Given the description of an element on the screen output the (x, y) to click on. 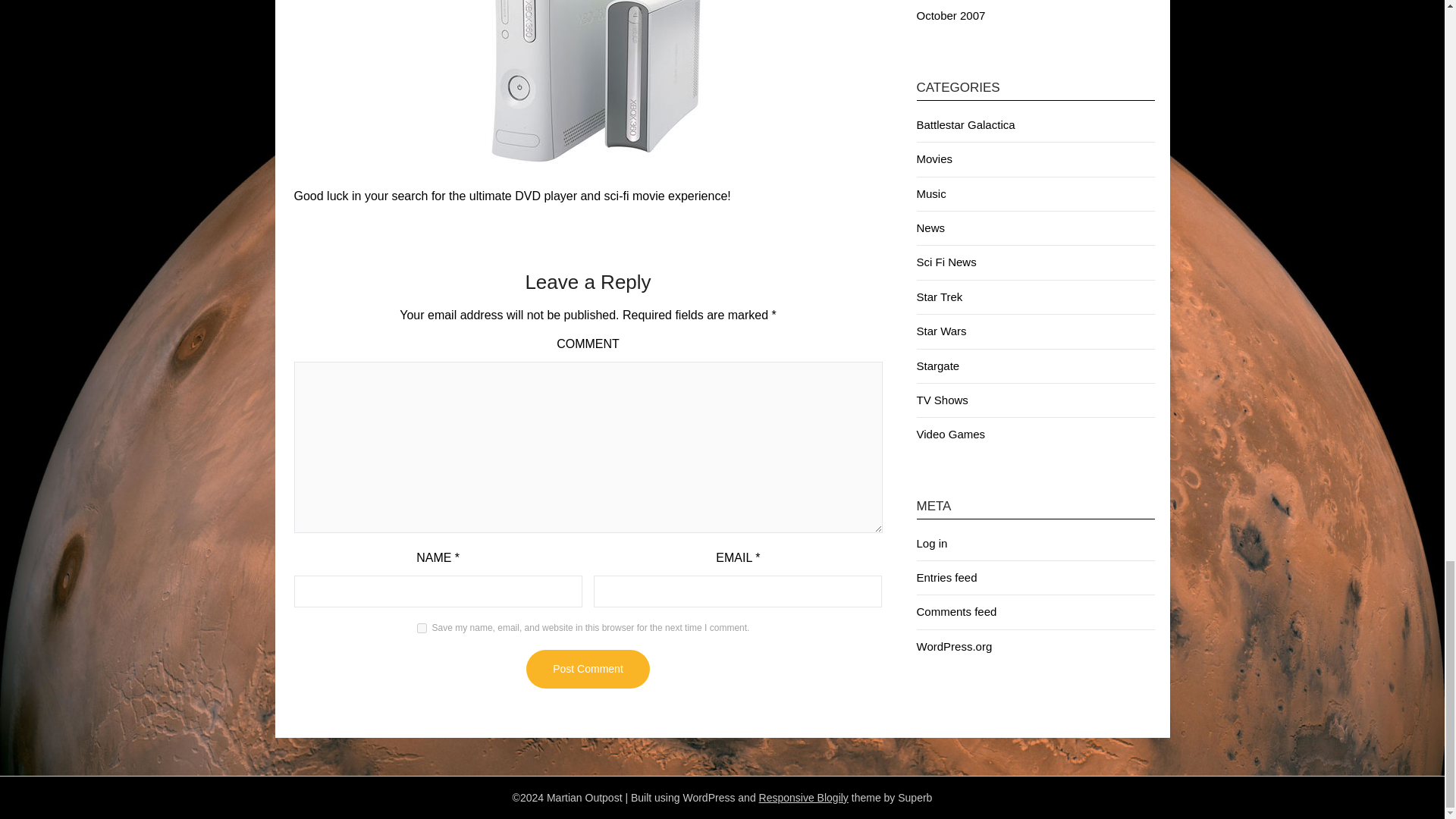
Post Comment (587, 669)
yes (421, 628)
Post Comment (587, 669)
